Given the description of an element on the screen output the (x, y) to click on. 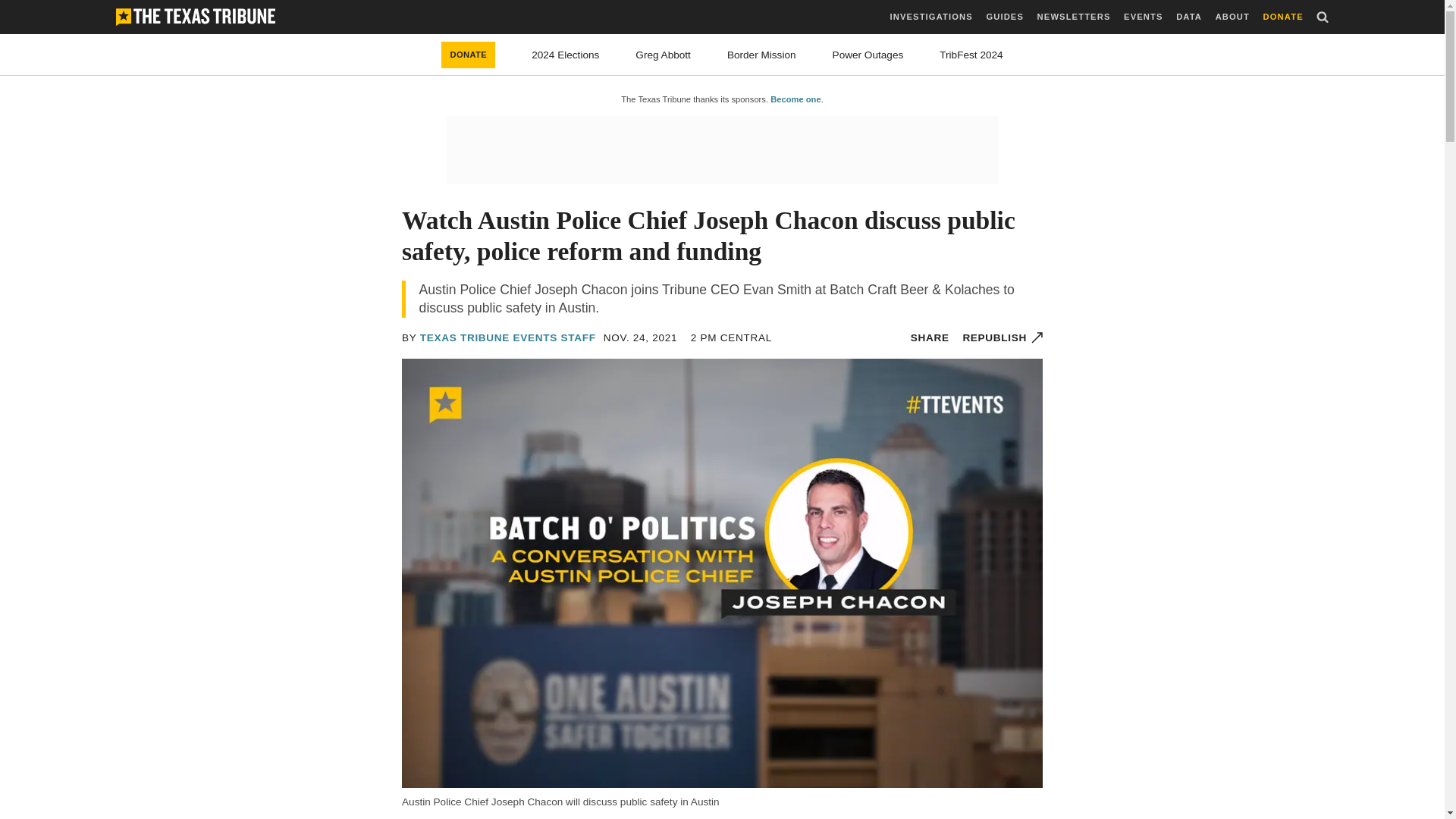
DATA (1189, 17)
GUIDES (1004, 17)
Greg Abbott (662, 54)
2024 Elections (564, 54)
INVESTIGATIONS (930, 17)
TEXAS TRIBUNE EVENTS STAFF (507, 337)
3rd party ad content (721, 150)
Power Outages (868, 54)
2021-11-24 14:13 CST (730, 337)
REPUBLISH (1002, 337)
Border Mission (761, 54)
DONATE (468, 54)
DONATE (1283, 17)
TribFest 2024 (971, 54)
2021-11-24 14:13 CST (641, 337)
